Given the description of an element on the screen output the (x, y) to click on. 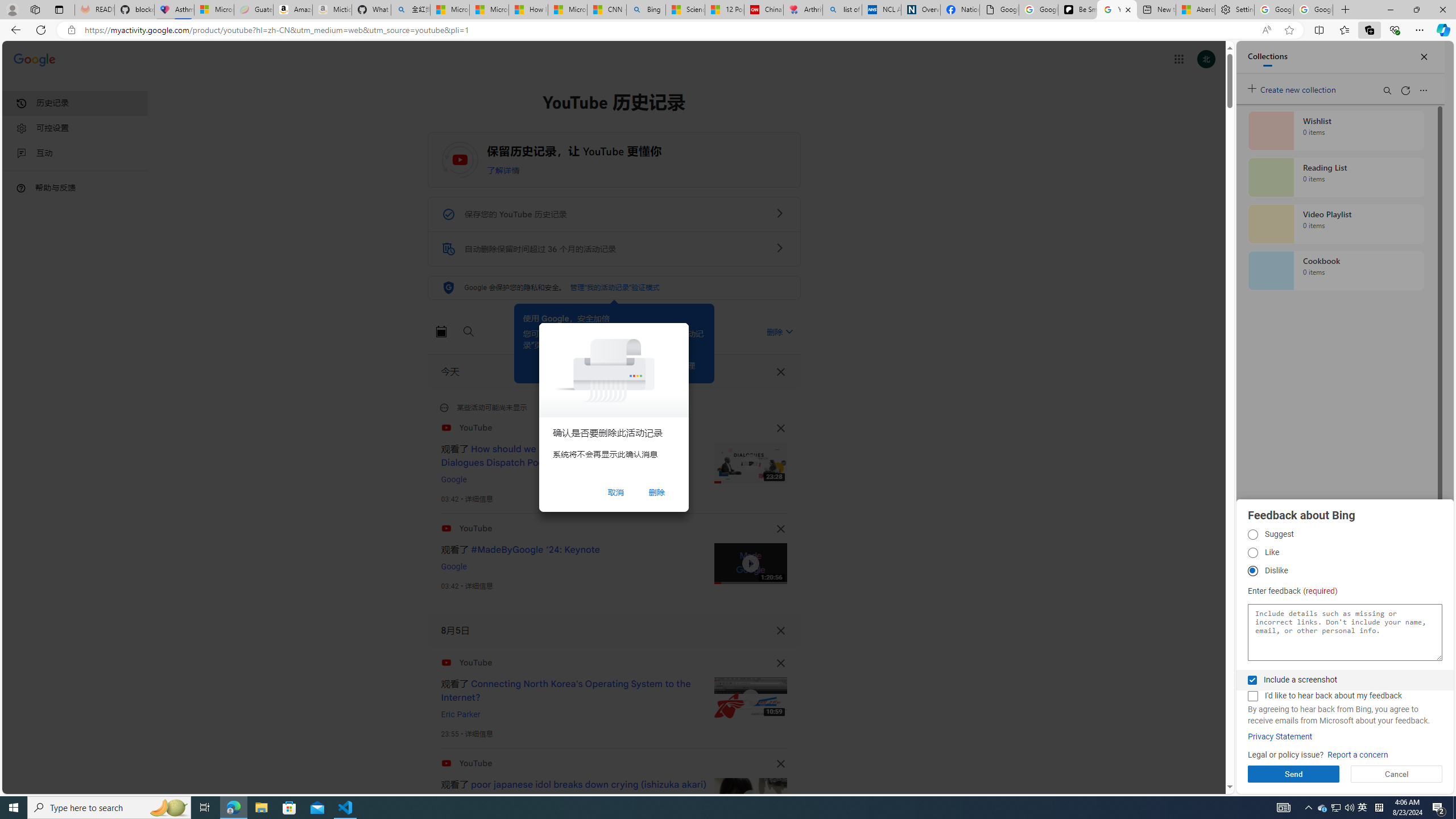
AutomationID: fbpgdgtp2 (1252, 552)
Bing (646, 9)
Send (1293, 773)
